Given the description of an element on the screen output the (x, y) to click on. 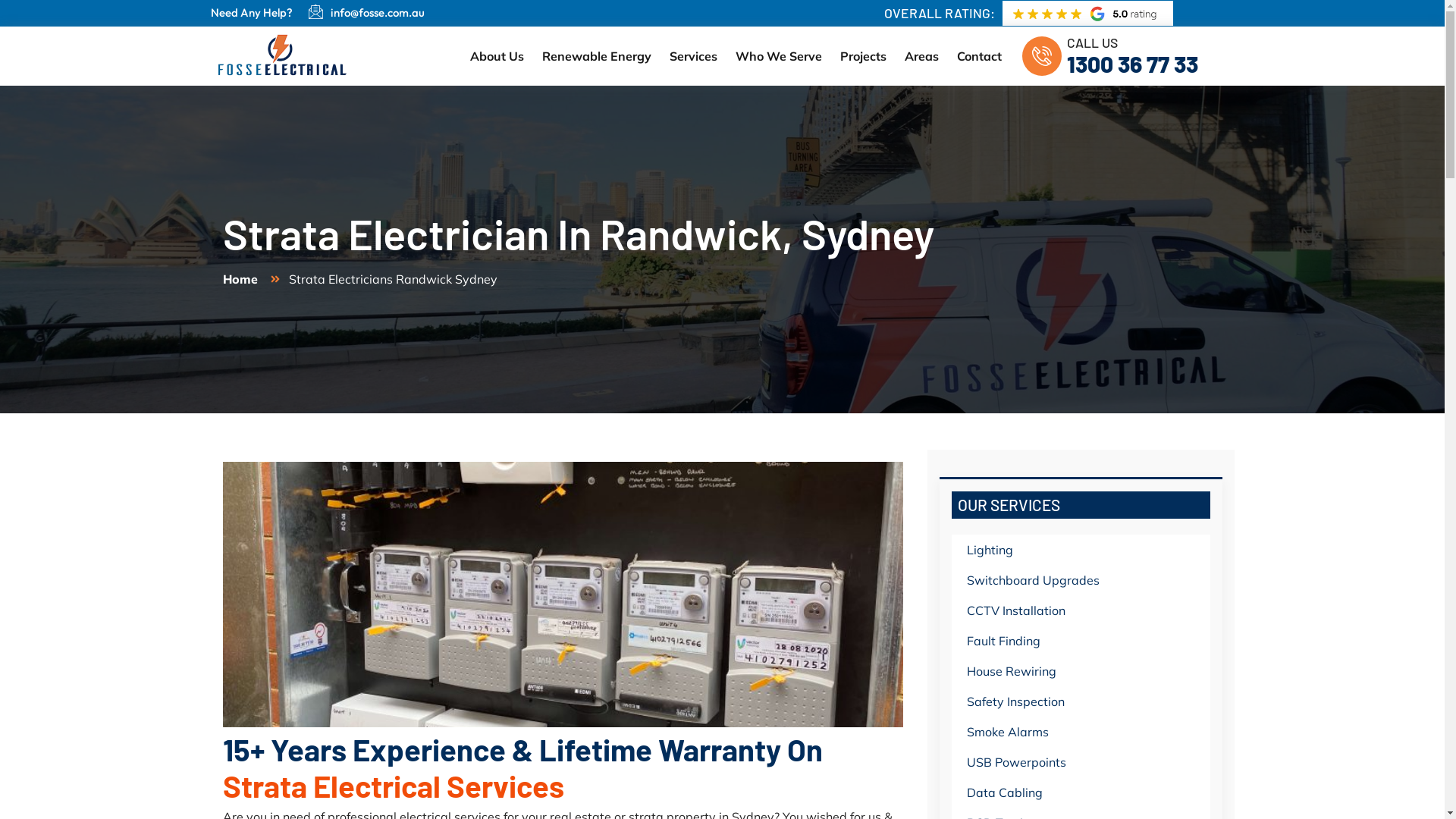
About Us Element type: text (496, 55)
Who We Serve Element type: text (778, 55)
1300 36 77 33 Element type: text (1132, 63)
info@fosse.com.au Element type: text (377, 12)
Switchboard Upgrades Element type: text (1079, 579)
USB Powerpoints Element type: text (1079, 761)
Lighting Element type: text (1079, 549)
Home Element type: text (239, 278)
House Rewiring Element type: text (1079, 670)
Areas Element type: text (921, 55)
CALL US Element type: text (1091, 42)
CCTV Installation Element type: text (1079, 610)
Contact Element type: text (979, 55)
Renewable Energy Element type: text (596, 55)
Safety Inspection Element type: text (1079, 701)
Data Cabling Element type: text (1079, 792)
Strata Electricians Randwick Sydney 1 Element type: hover (562, 594)
Fault Finding Element type: text (1079, 640)
Smoke Alarms Element type: text (1079, 731)
Services Element type: text (693, 55)
Projects Element type: text (862, 55)
